Given the description of an element on the screen output the (x, y) to click on. 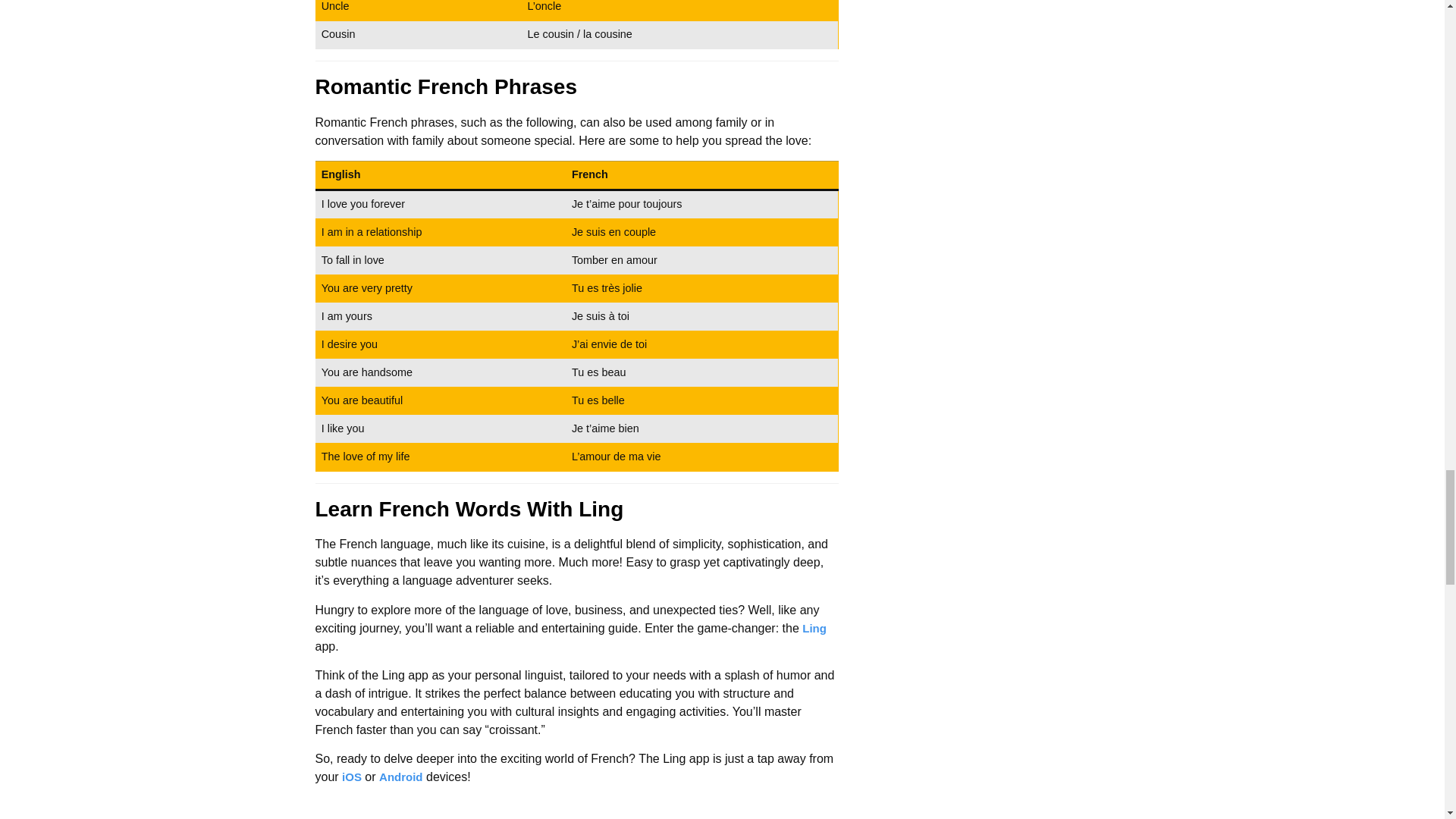
Android (400, 776)
Ling (814, 627)
iOS (351, 776)
